Given the description of an element on the screen output the (x, y) to click on. 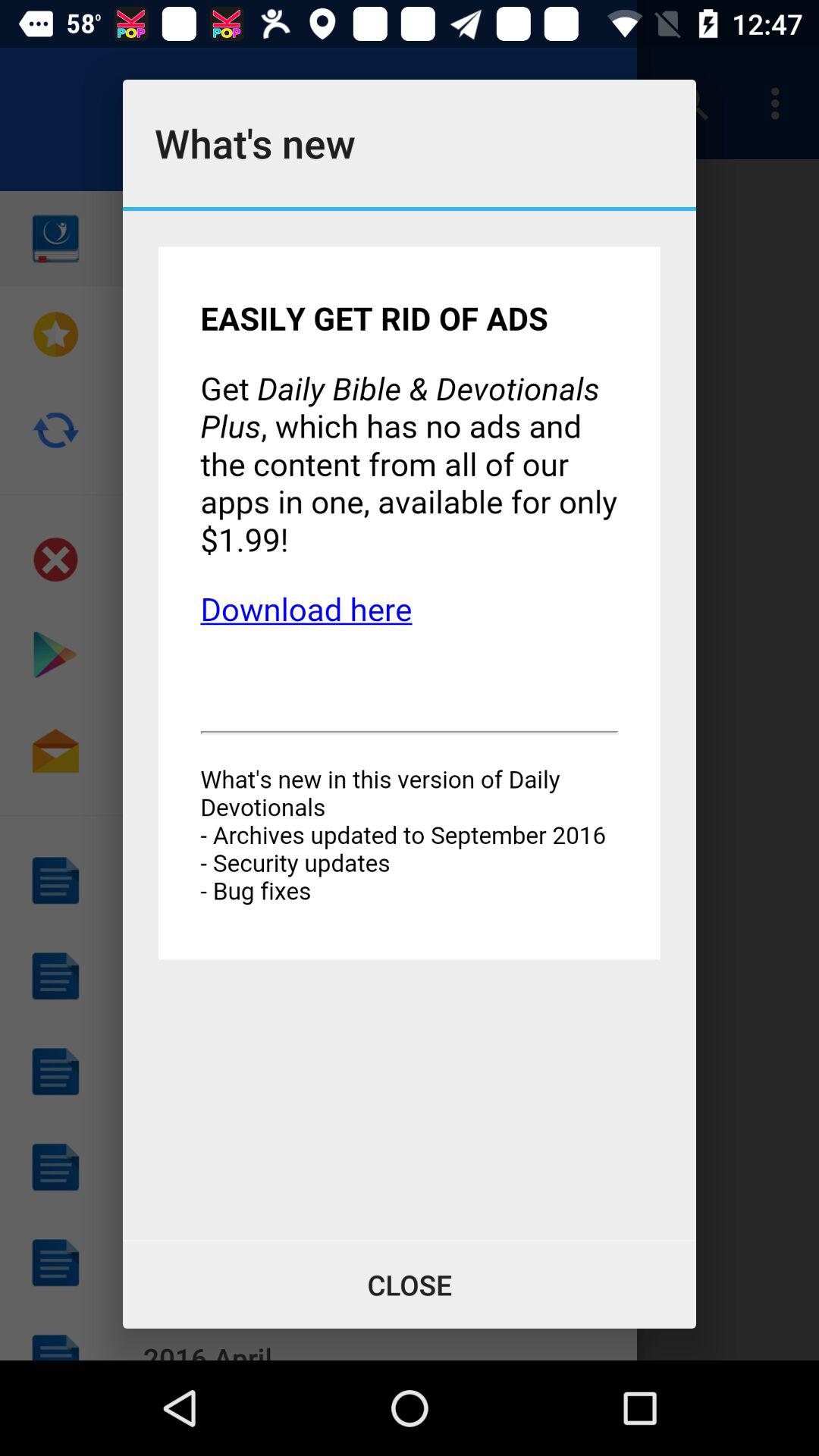
turn on item at the bottom (409, 1284)
